Given the description of an element on the screen output the (x, y) to click on. 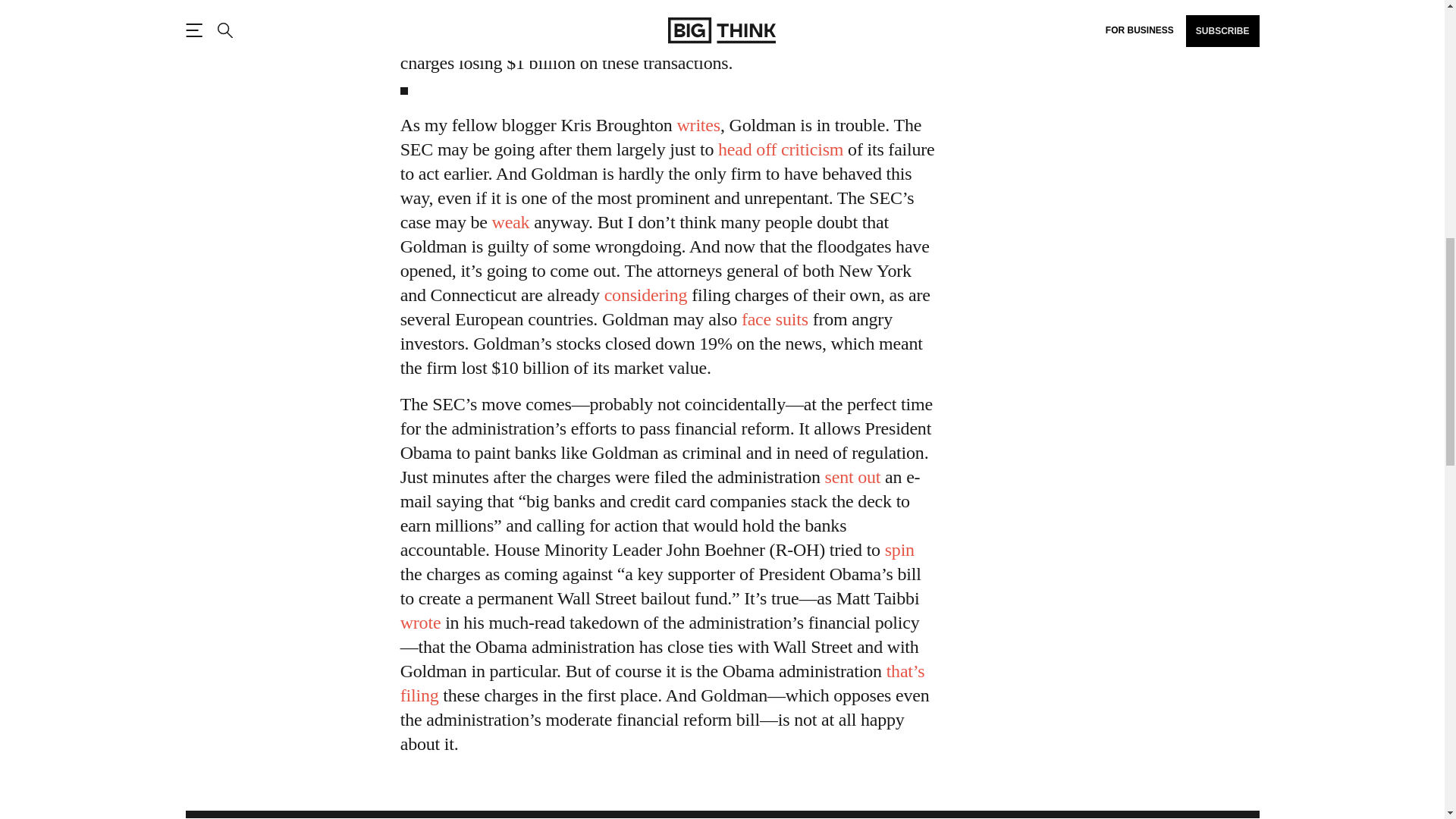
considering (645, 294)
that's filing (662, 682)
writes (698, 125)
face suits (774, 319)
weak (510, 221)
noted (420, 622)
head off criticism of (780, 148)
spin (899, 549)
